Given the description of an element on the screen output the (x, y) to click on. 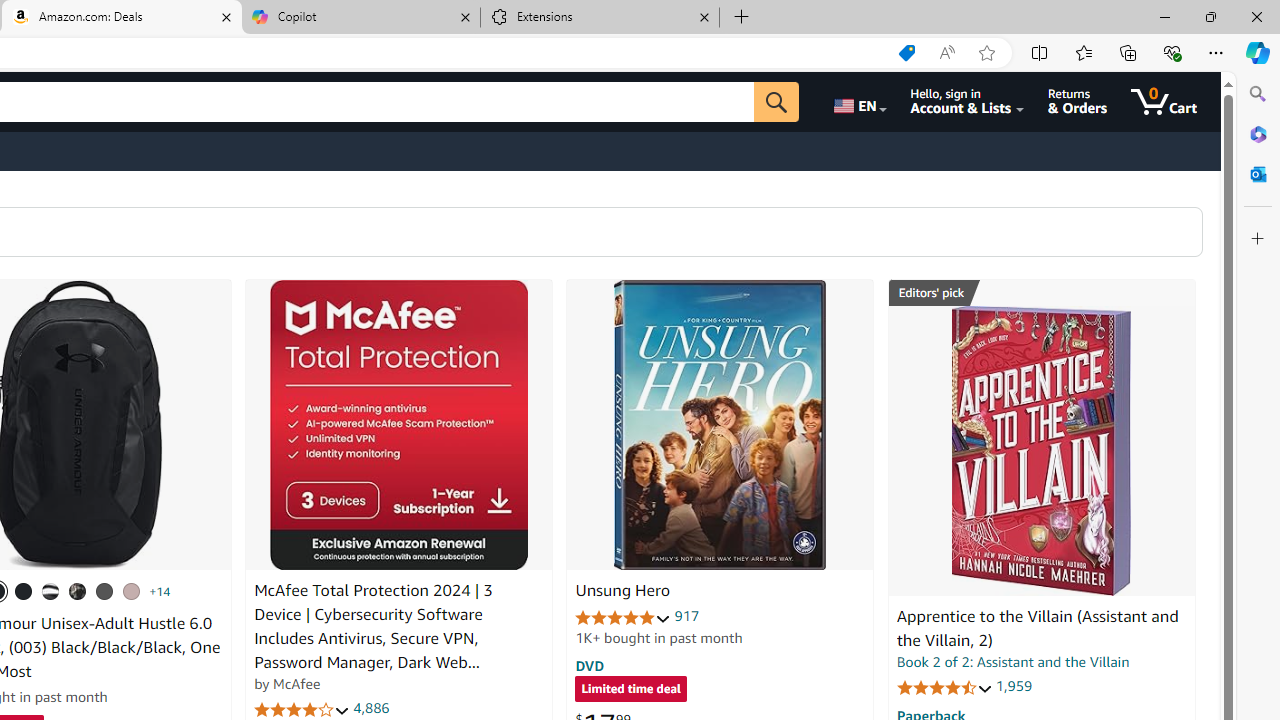
Customize (1258, 239)
Unsung Hero (720, 425)
Apprentice to the Villain (Assistant and the Villain, 2) (1041, 451)
(005) Black Full Heather / Black / Metallic Gold (104, 591)
(004) Black / Black / Metallic Gold (78, 591)
917 (687, 616)
Book 2 of 2: Assistant and the Villain (1013, 662)
Copilot (360, 17)
+14 (159, 591)
Search (1258, 94)
4.9 out of 5 stars (623, 616)
